Given the description of an element on the screen output the (x, y) to click on. 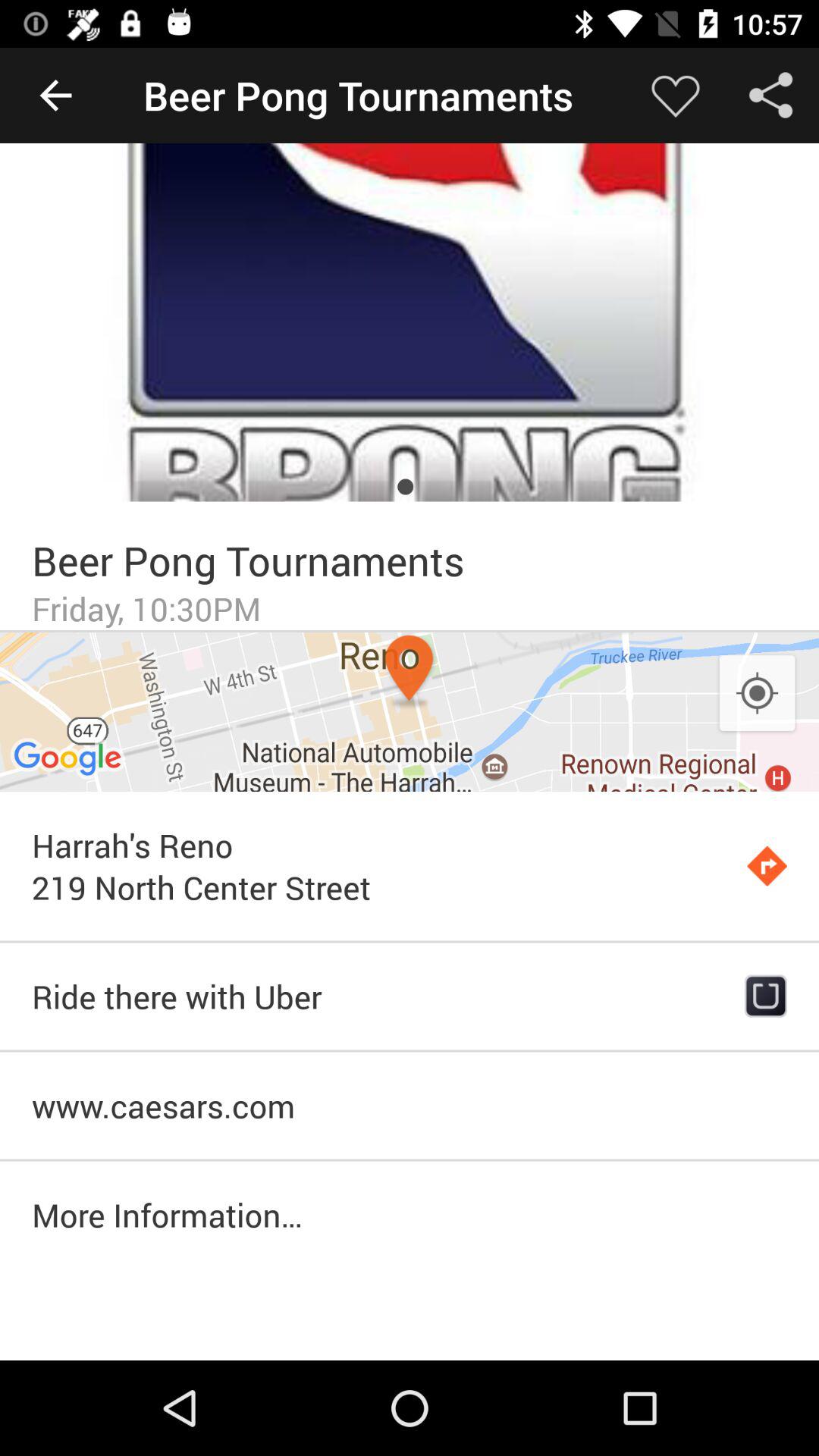
press the item above the harrah s reno icon (757, 693)
